Given the description of an element on the screen output the (x, y) to click on. 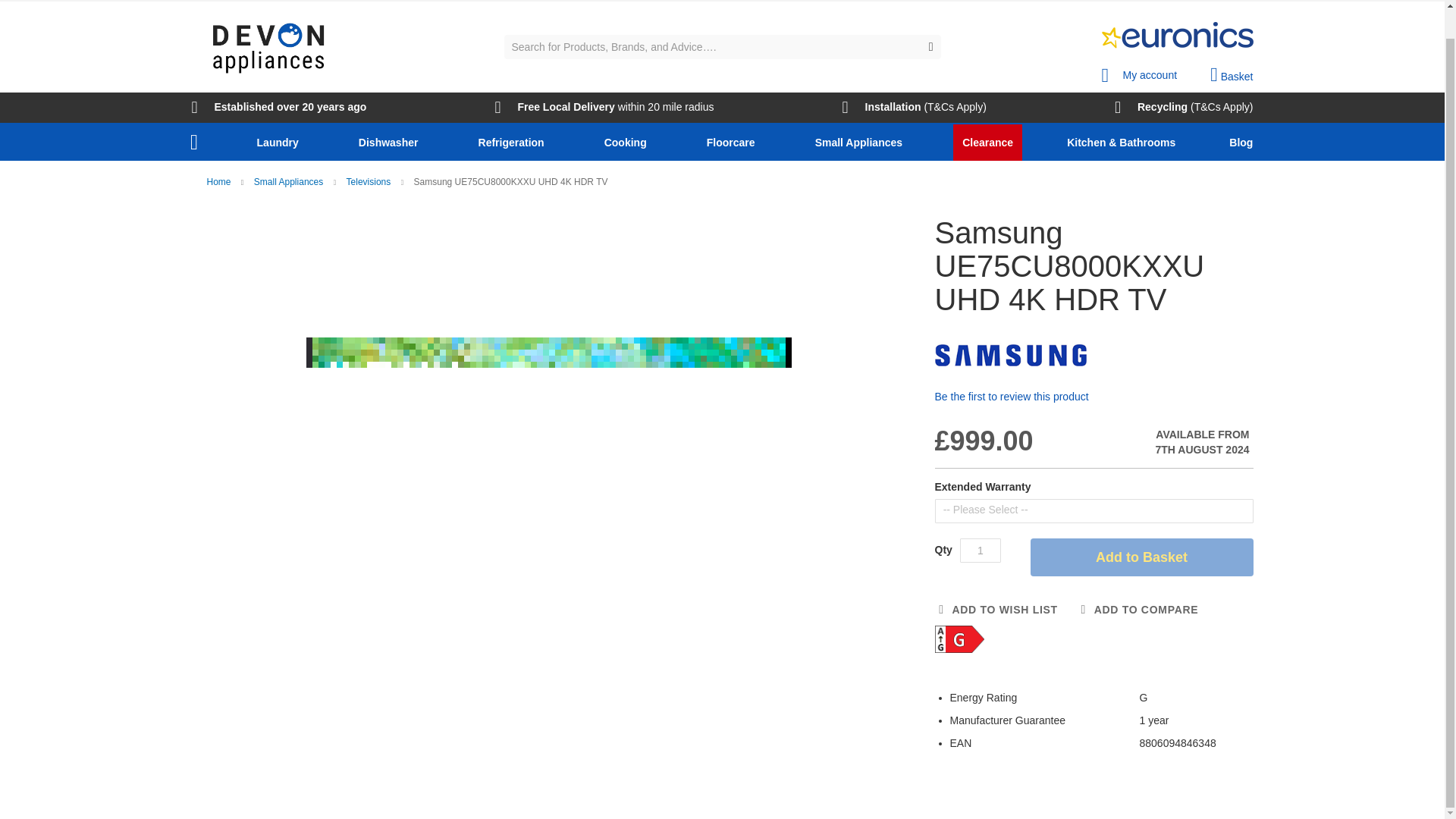
Established over 20 years ago (278, 107)
Go to Home Page (219, 181)
For more on Samsung, click here. (1010, 355)
Add to Basket (1140, 557)
1 (980, 550)
Basket (1230, 74)
Home (193, 142)
Refrigeration (513, 142)
Availability (1165, 442)
Free Local Delivery within 20 mile radius (604, 107)
Installation (882, 107)
Qty (980, 550)
Dishwasher (391, 142)
Laundry (280, 142)
My account (1138, 71)
